Given the description of an element on the screen output the (x, y) to click on. 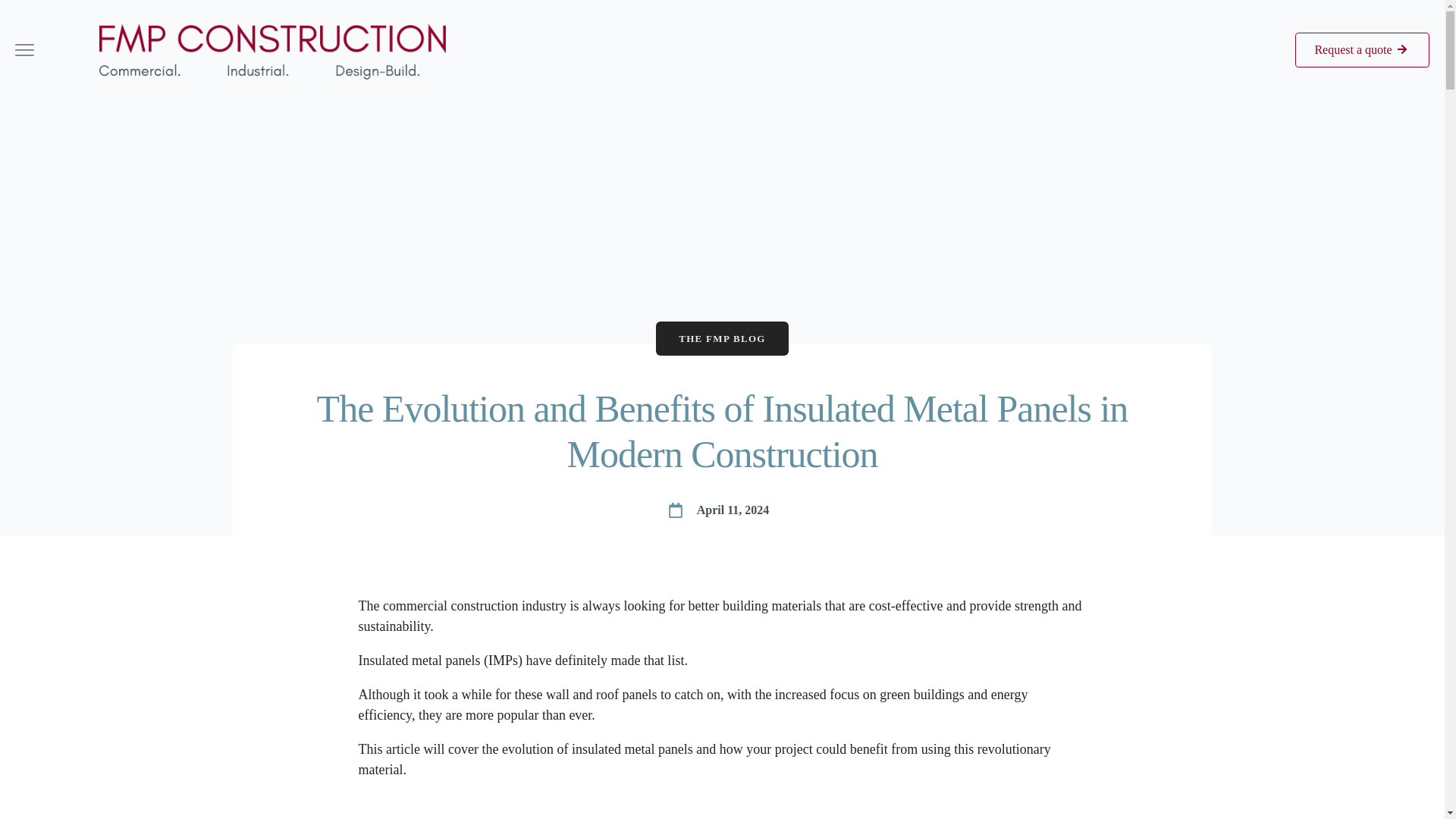
Request a quote (1362, 49)
